Given the description of an element on the screen output the (x, y) to click on. 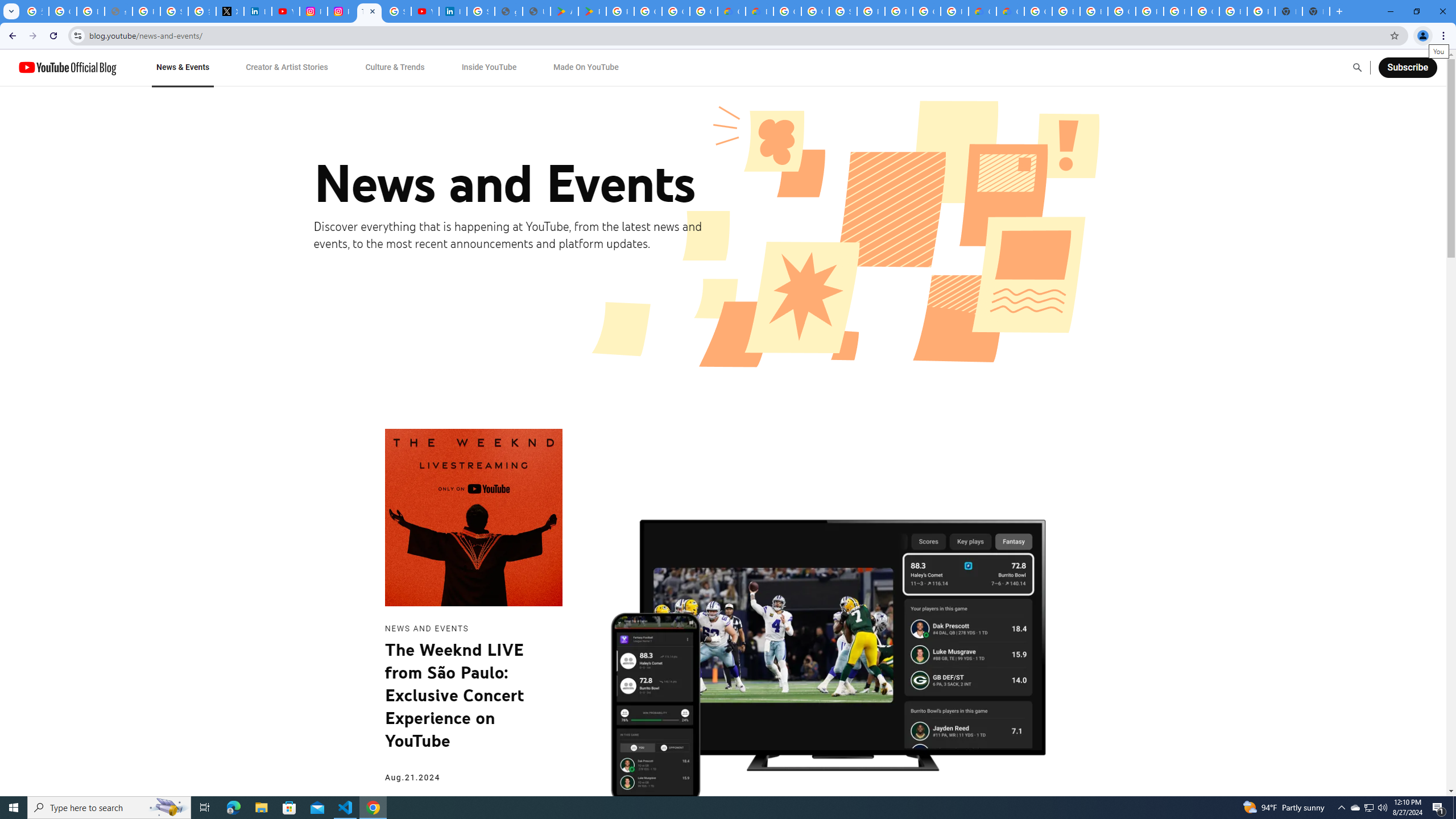
Google Cloud Estimate Summary (1010, 11)
Creator & Artist Stories (287, 67)
X (229, 11)
New Tab (1316, 11)
Sign in - Google Accounts (397, 11)
